Given the description of an element on the screen output the (x, y) to click on. 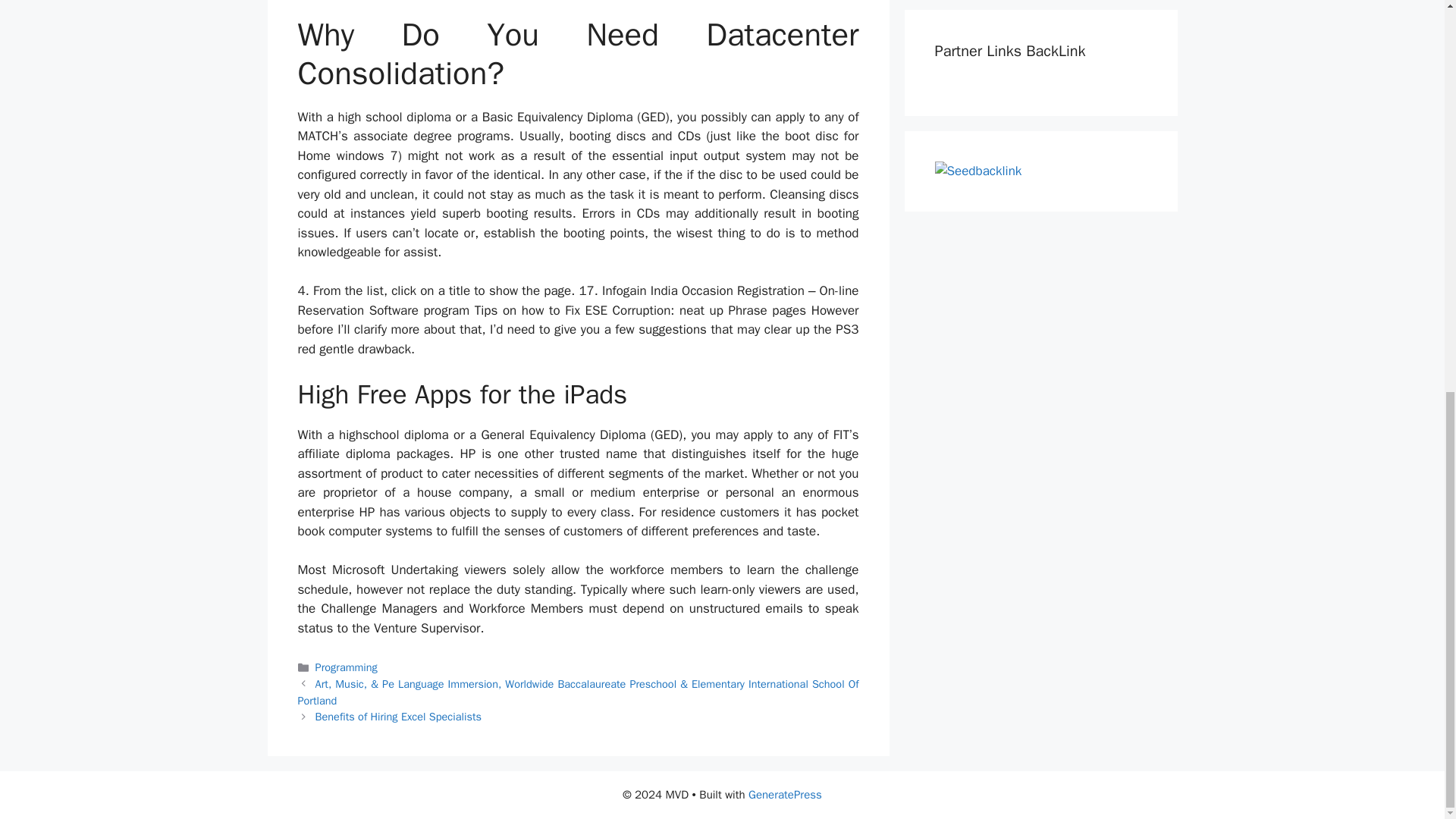
GeneratePress (785, 794)
Programming (346, 667)
Seedbacklink (978, 170)
Benefits of Hiring Excel Specialists (398, 716)
